Given the description of an element on the screen output the (x, y) to click on. 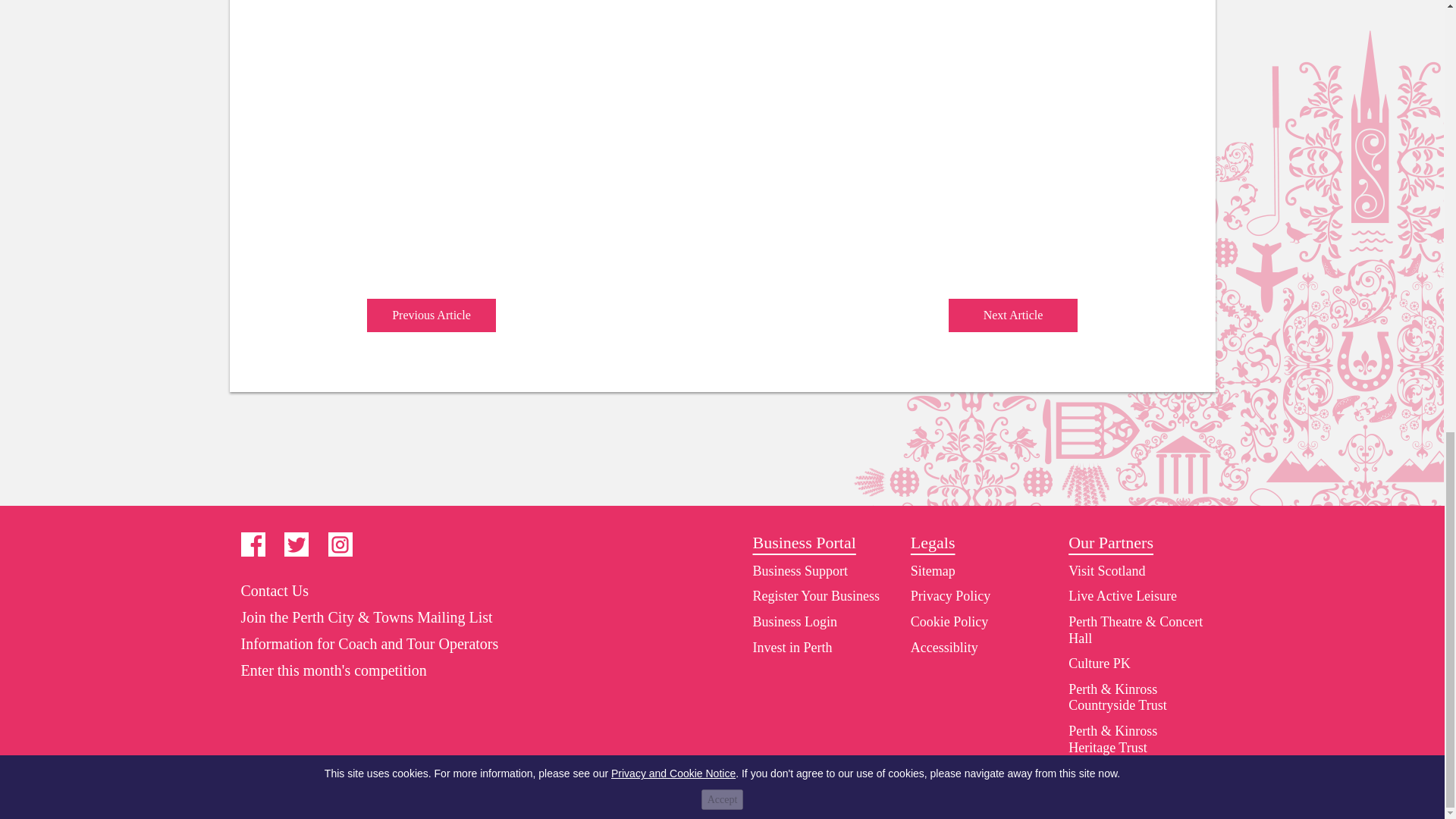
YouTube video player (576, 148)
